Given the description of an element on the screen output the (x, y) to click on. 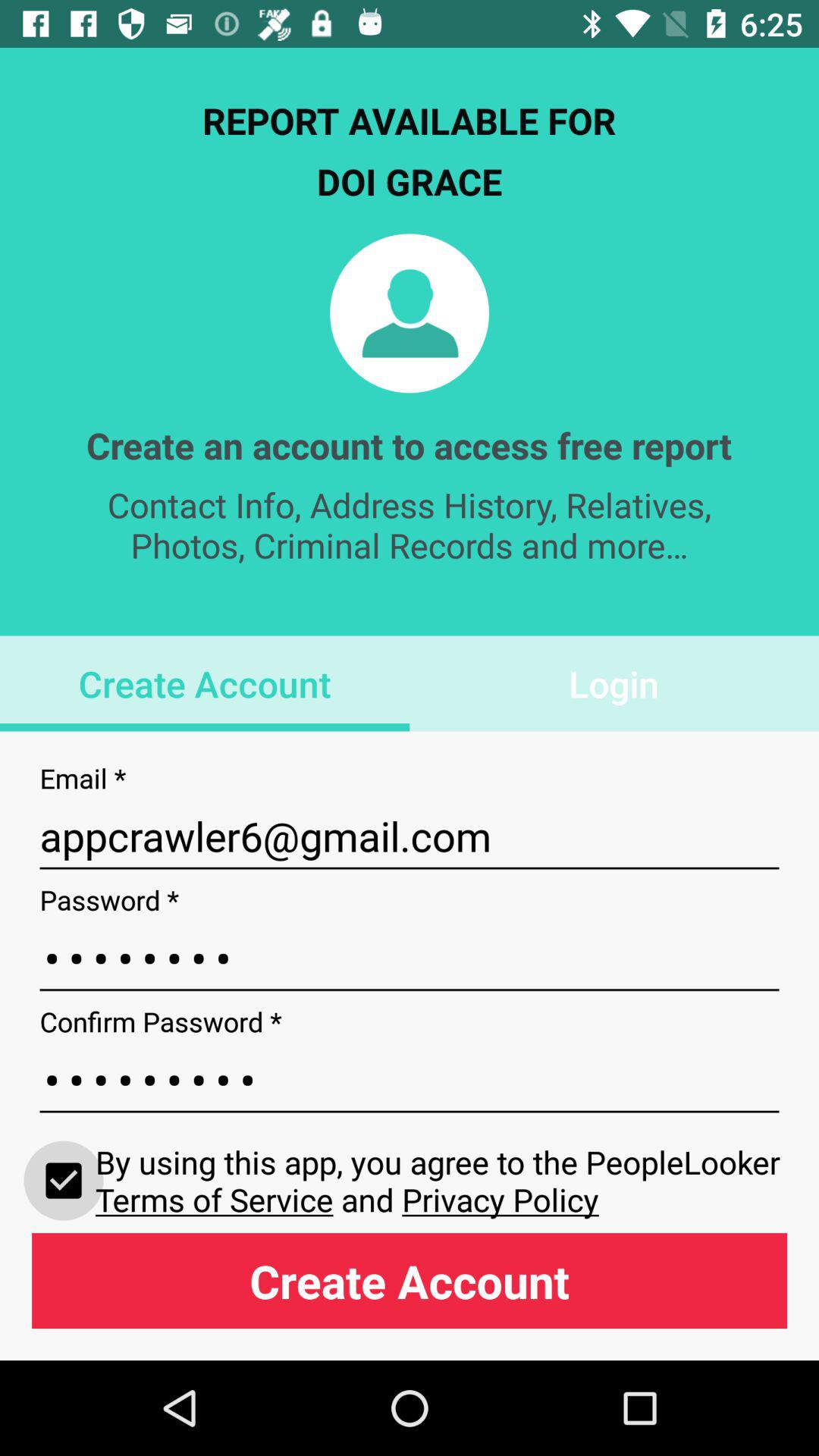
click icon to the left of the by using this (63, 1180)
